Given the description of an element on the screen output the (x, y) to click on. 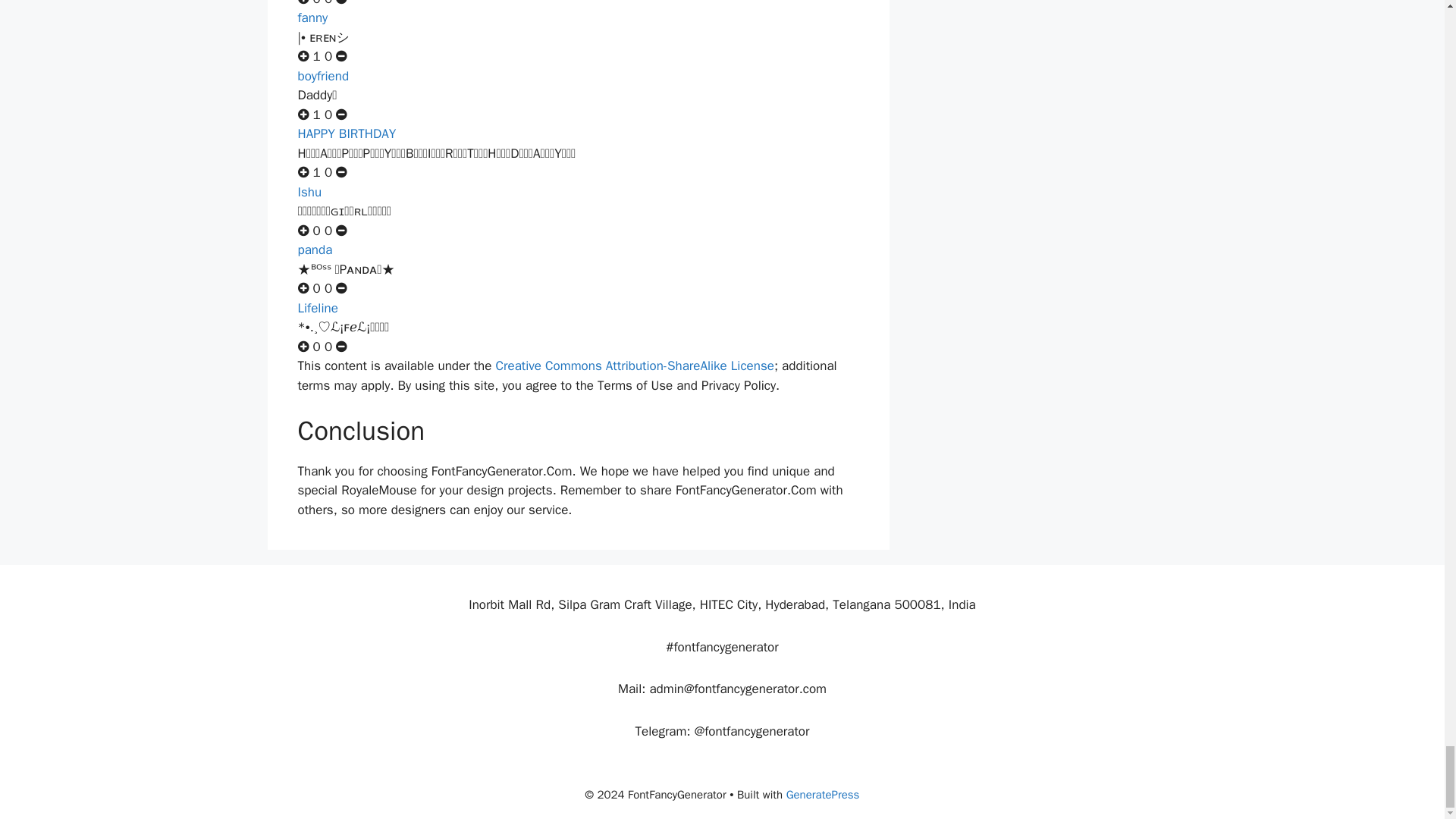
boyfriend (323, 75)
fanny (312, 17)
HAPPY BIRTHDAY (346, 133)
